Given the description of an element on the screen output the (x, y) to click on. 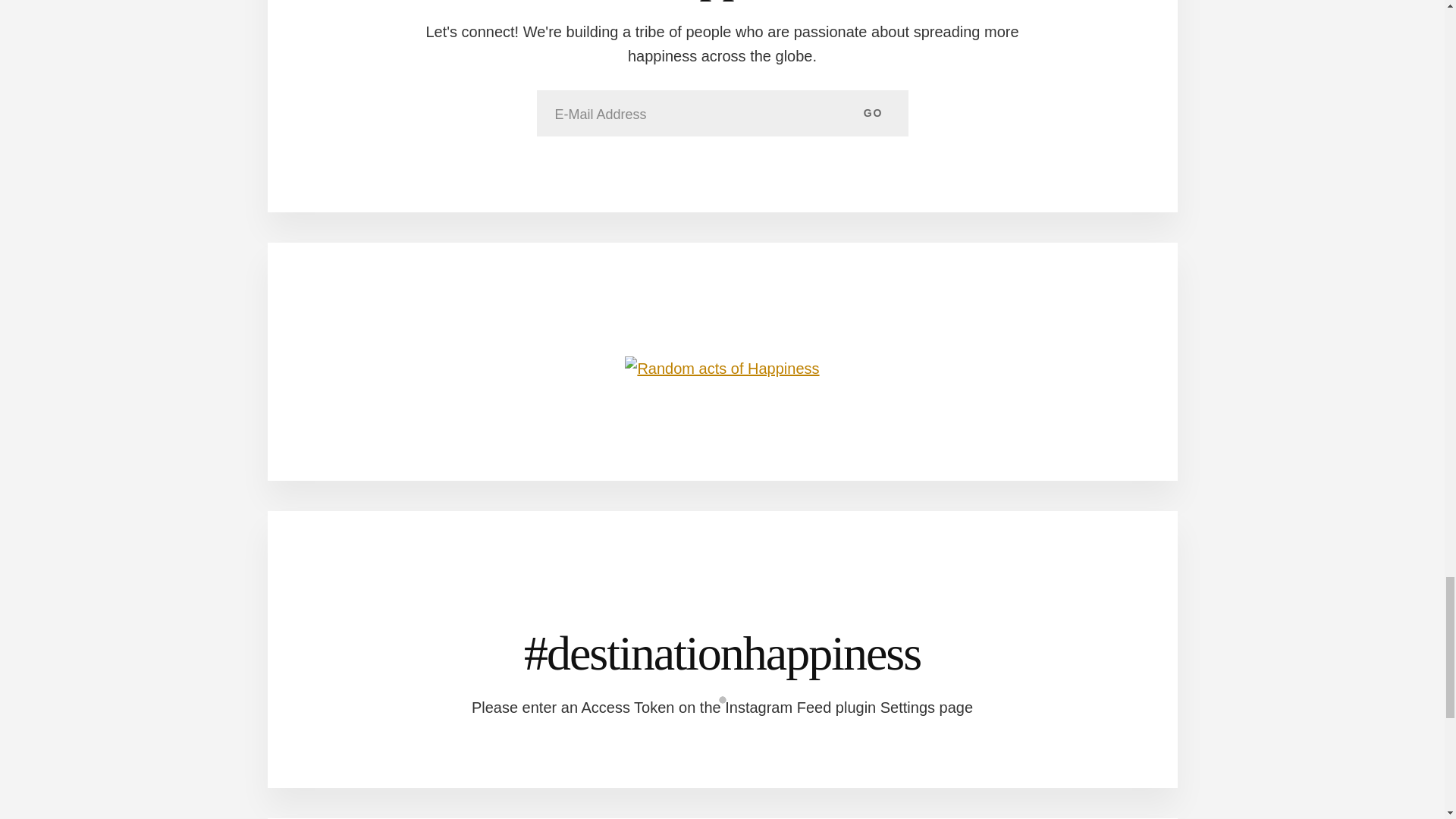
Go (873, 112)
